Given the description of an element on the screen output the (x, y) to click on. 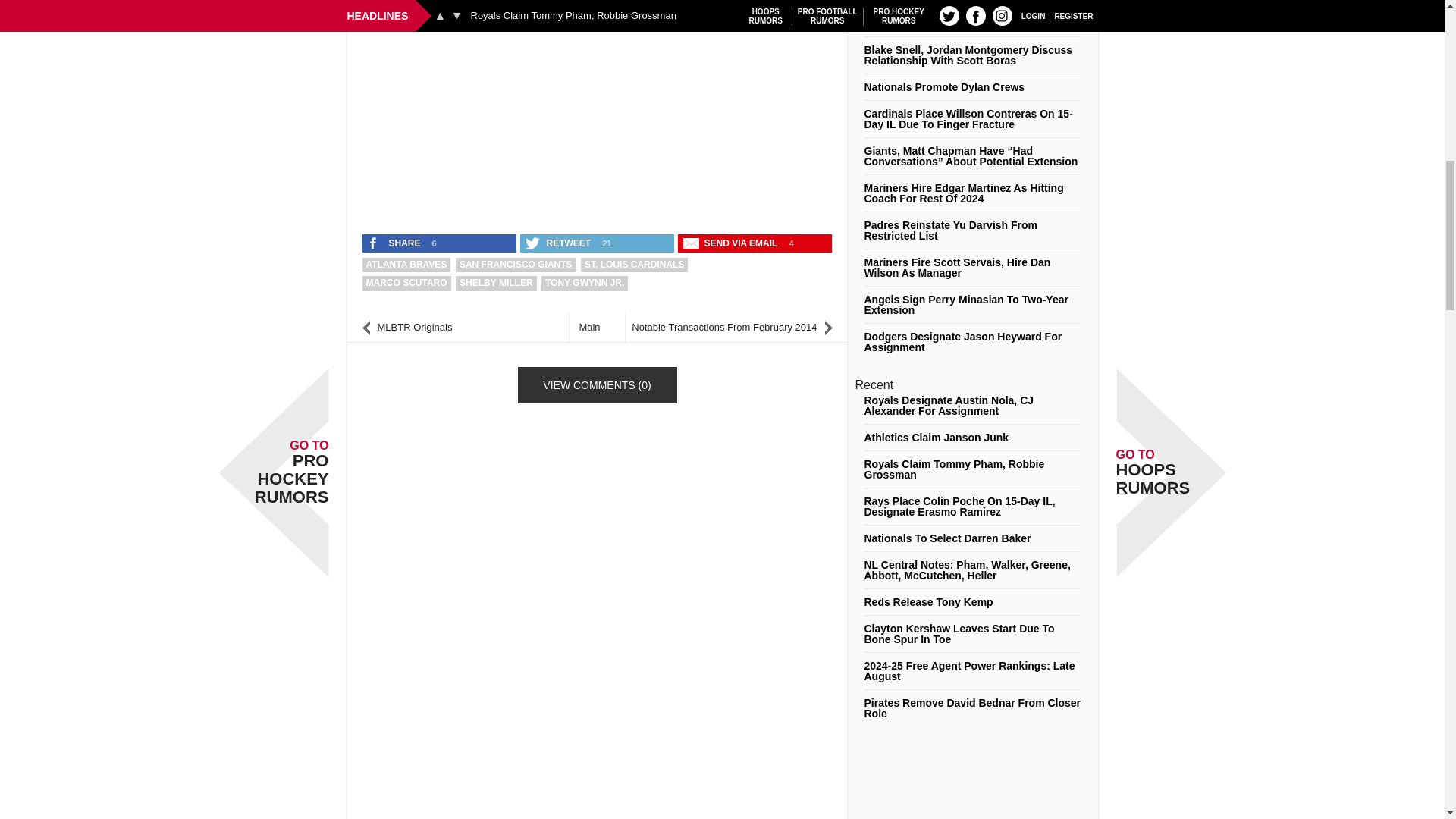
Send NL Notes: Miller, Jenkins, Gwynn, Scutaro with an email (732, 243)
